Given the description of an element on the screen output the (x, y) to click on. 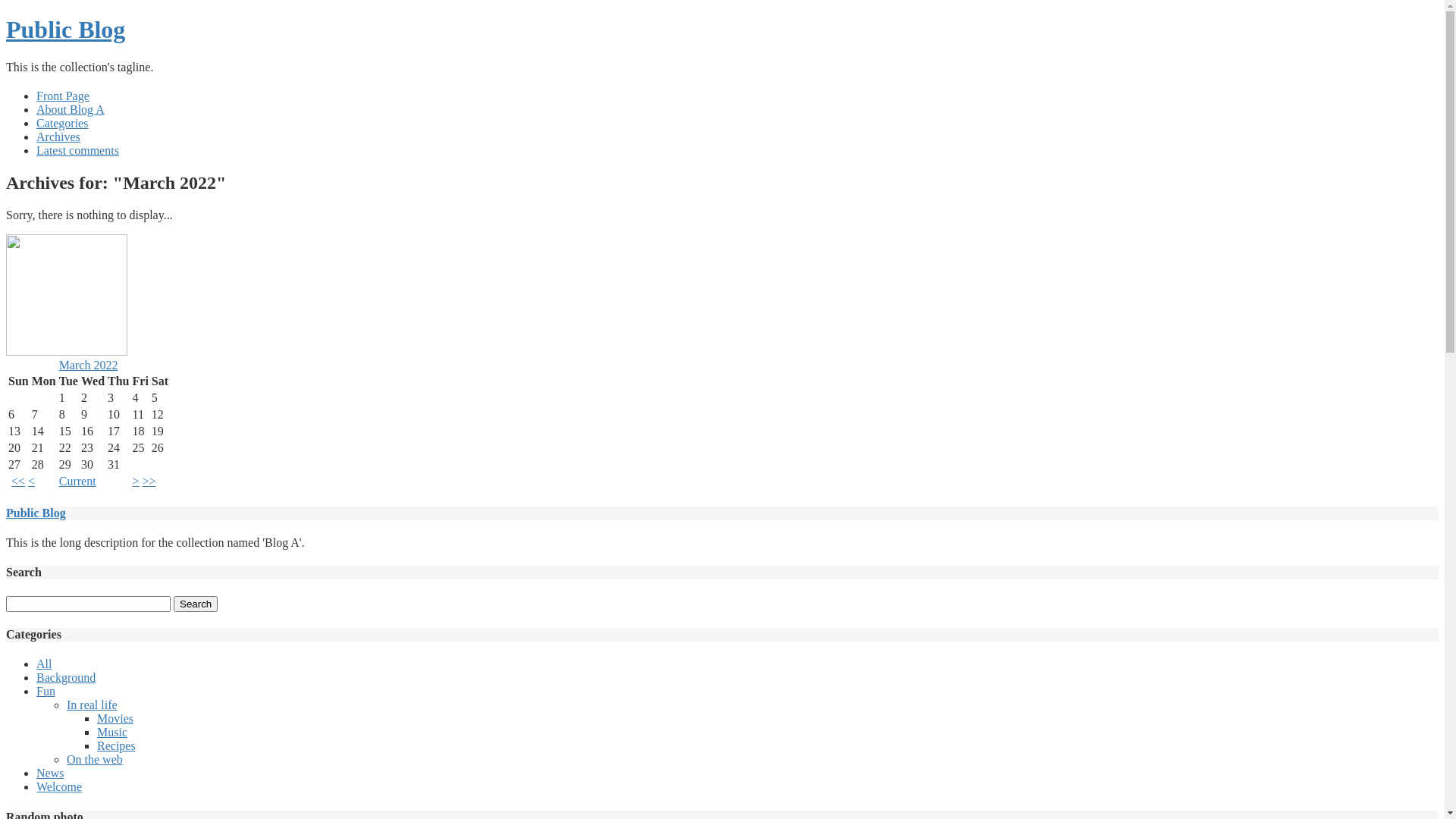
Welcome Element type: text (58, 786)
< Element type: text (31, 480)
Public Blog Element type: text (65, 29)
March 2022 Element type: text (88, 364)
Archives Element type: text (58, 136)
About Blog A Element type: text (70, 109)
<< Element type: text (18, 480)
Background Element type: text (65, 677)
Categories Element type: text (61, 122)
All Element type: text (43, 663)
Front Page Element type: text (62, 95)
Music Element type: text (112, 731)
Current Element type: text (77, 480)
> Element type: text (134, 480)
Public Blog Element type: text (35, 512)
Fun Element type: text (45, 690)
On the web Element type: text (94, 759)
News Element type: text (49, 772)
Movies Element type: text (115, 718)
Recipes Element type: text (116, 745)
Latest comments Element type: text (77, 150)
Search Element type: text (195, 603)
>> Element type: text (149, 480)
In real life Element type: text (91, 704)
